Given the description of an element on the screen output the (x, y) to click on. 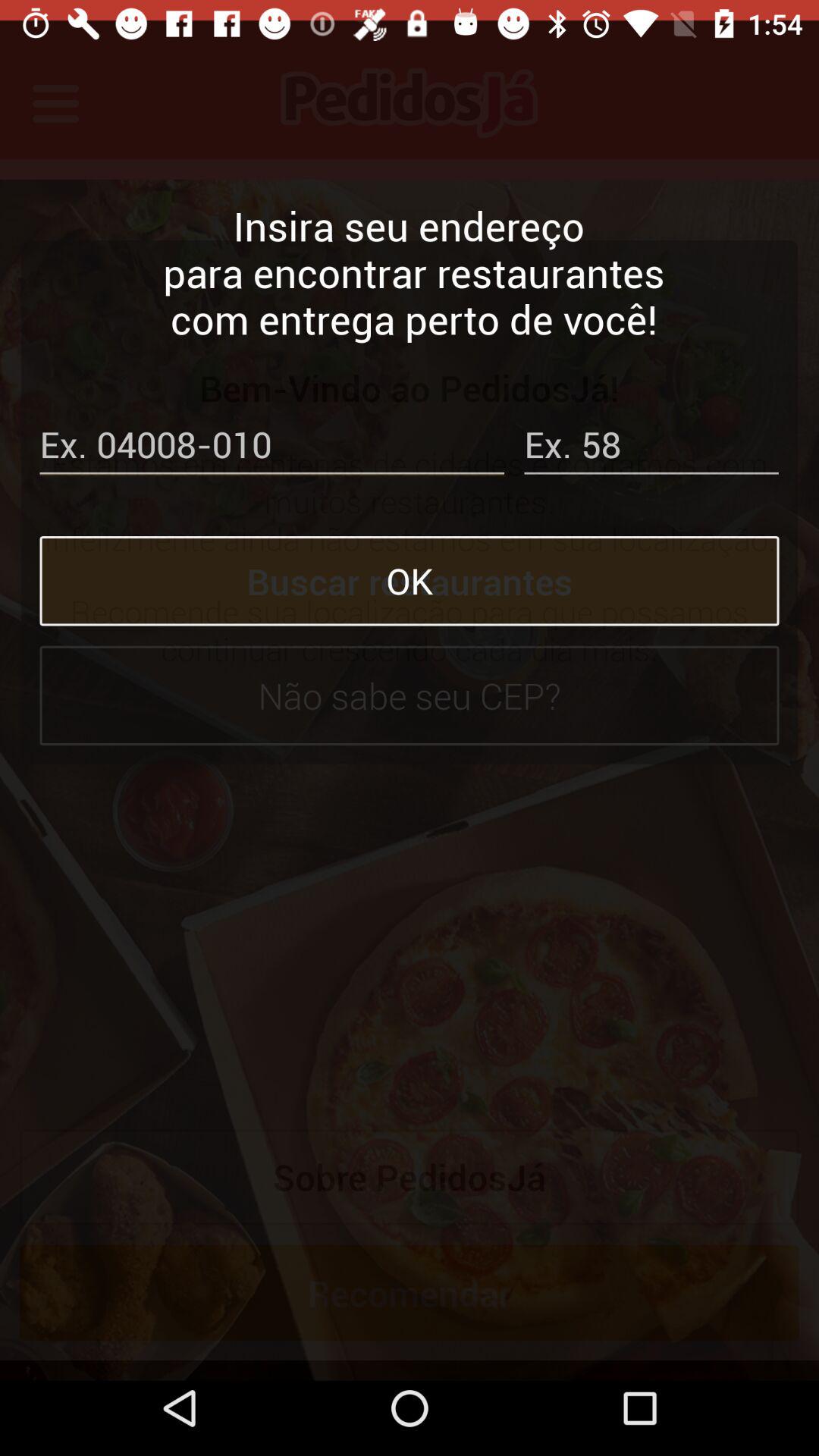
select the ok item (409, 560)
